Given the description of an element on the screen output the (x, y) to click on. 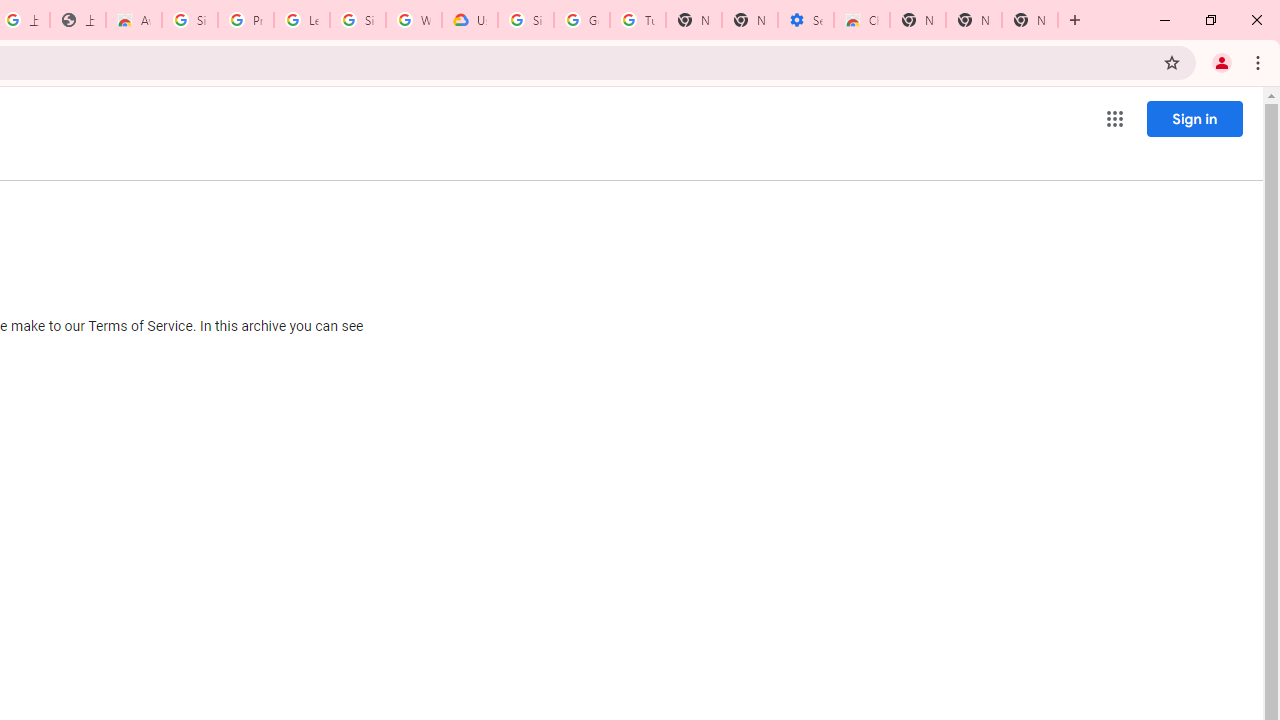
Chrome Web Store - Accessibility extensions (861, 20)
Sign in - Google Accounts (189, 20)
Sign in - Google Accounts (525, 20)
Who are Google's partners? - Privacy and conditions - Google (413, 20)
Awesome Screen Recorder & Screenshot - Chrome Web Store (134, 20)
Google Account Help (582, 20)
